Given the description of an element on the screen output the (x, y) to click on. 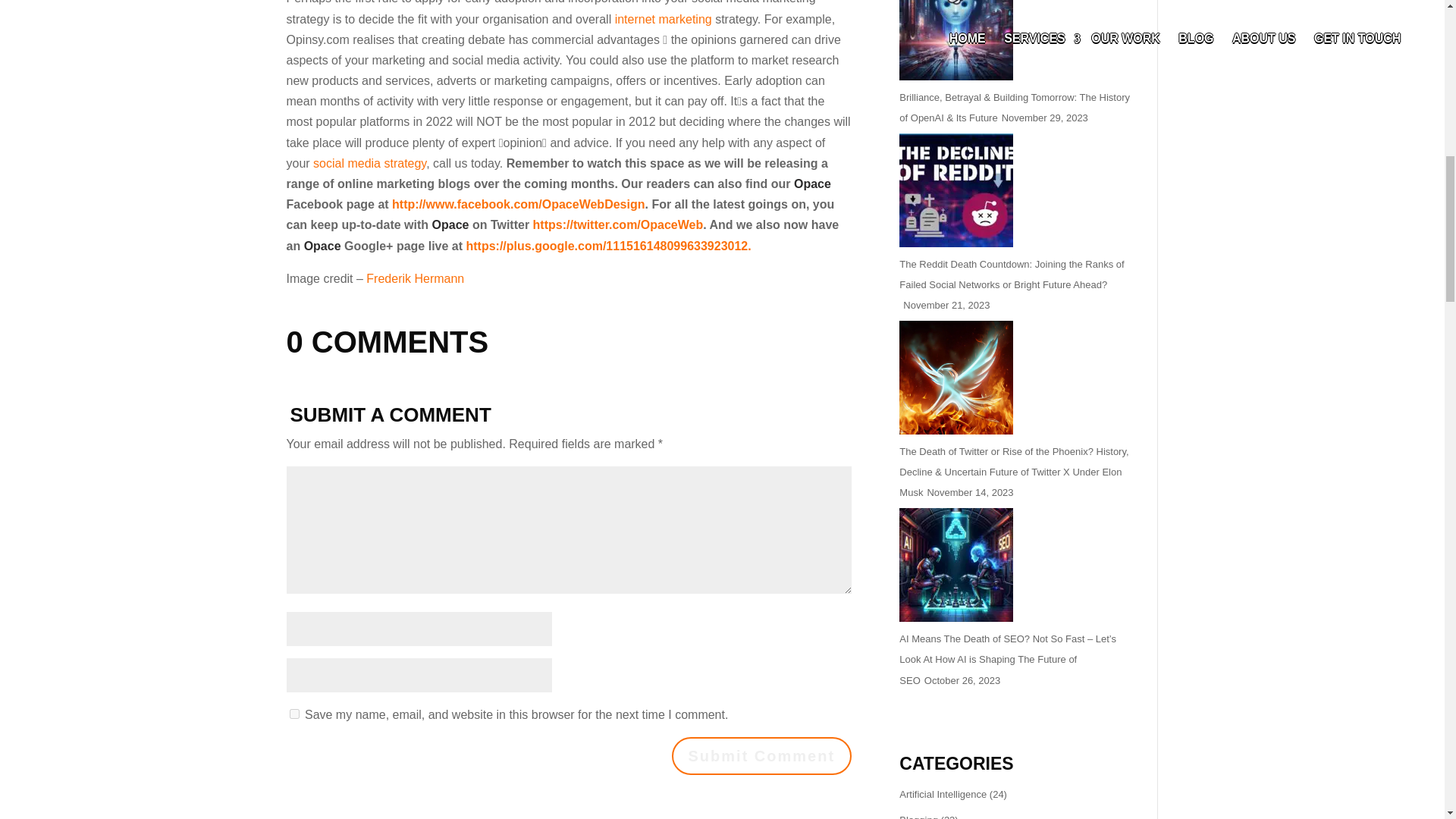
yes (294, 714)
